Given the description of an element on the screen output the (x, y) to click on. 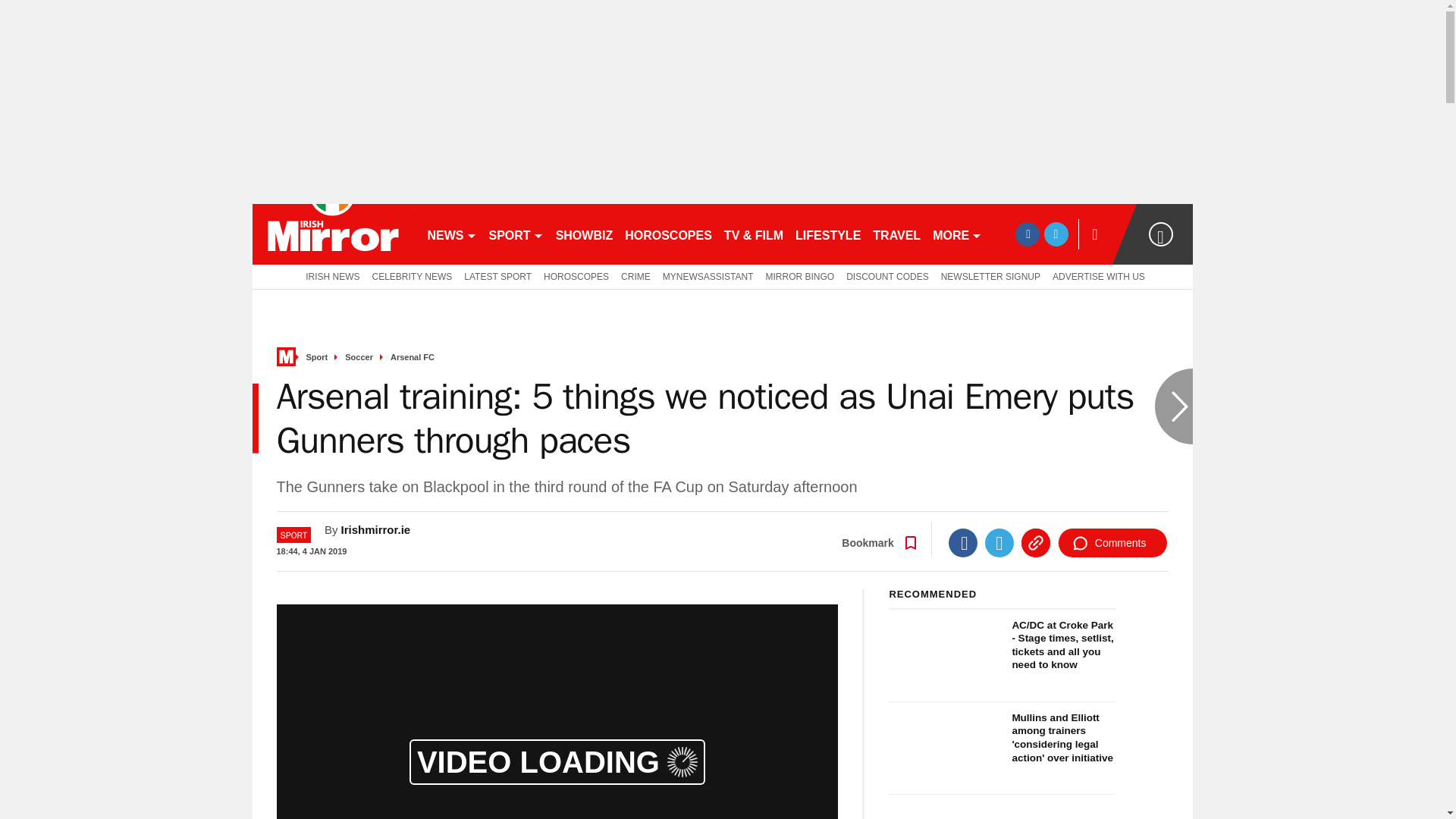
TRAVEL (896, 233)
Facebook (962, 542)
irishmirror (332, 233)
MIRROR BINGO (800, 275)
SPORT (514, 233)
HOROSCOPES (575, 275)
MYNEWSASSISTANT (708, 275)
twitter (1055, 233)
IRISH NEWS (329, 275)
MORE (957, 233)
